Given the description of an element on the screen output the (x, y) to click on. 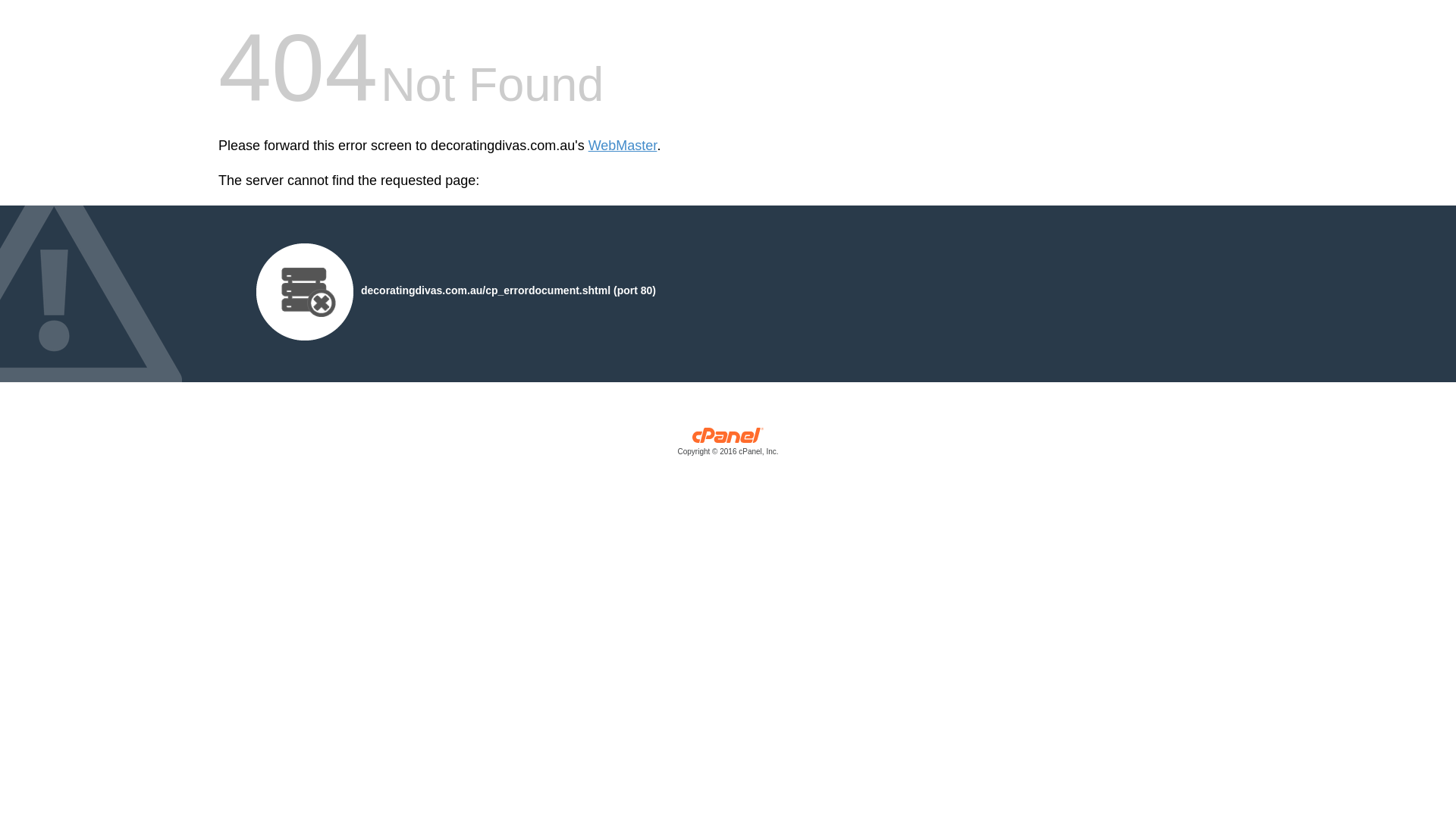
WebMaster Element type: text (622, 145)
